Given the description of an element on the screen output the (x, y) to click on. 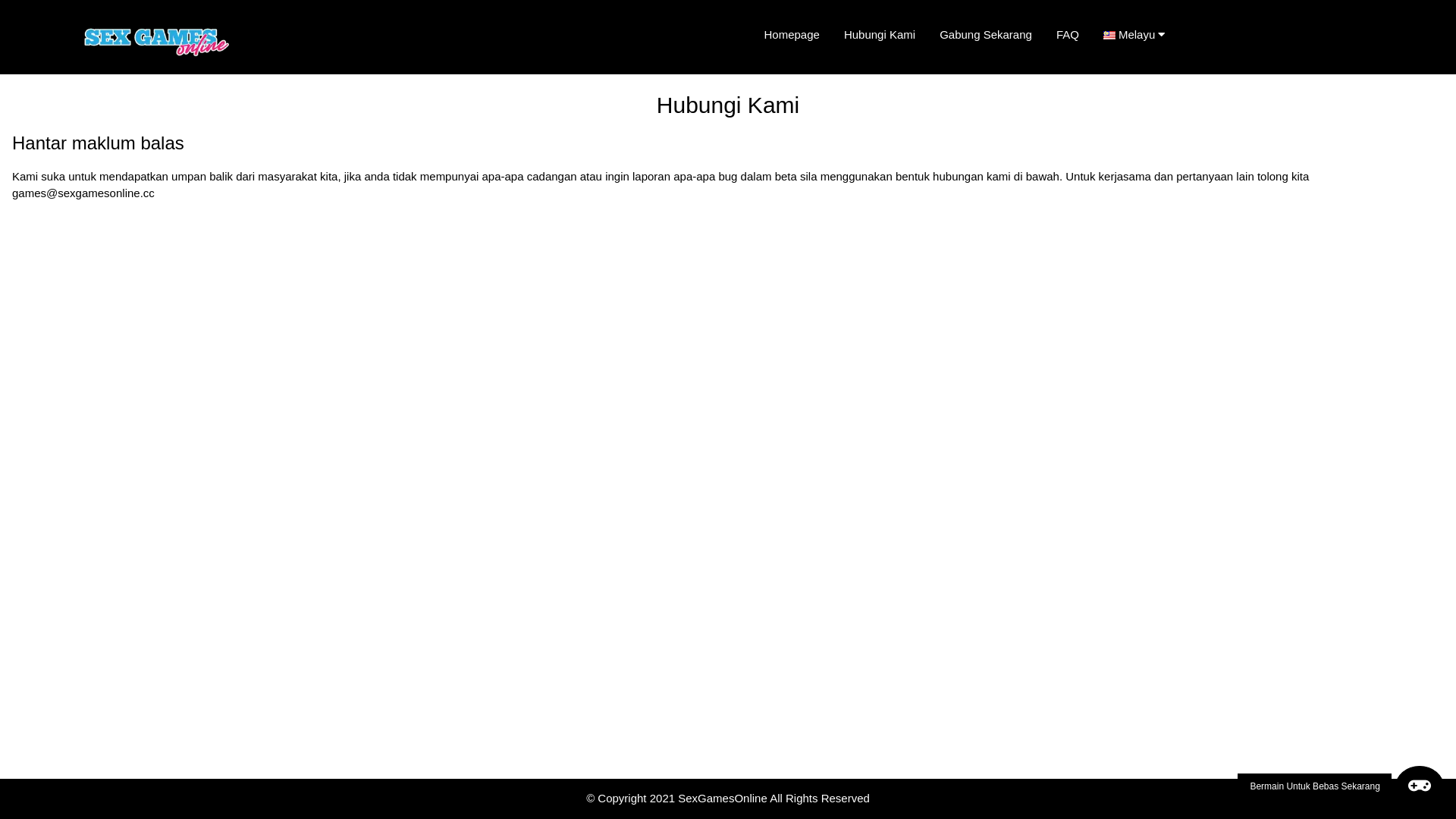
Gabung Sekarang Element type: text (985, 35)
Homepage Element type: text (791, 35)
FAQ Element type: text (1067, 35)
Melayu Element type: text (1140, 35)
Bermain Untuk Bebas Sekarang Element type: text (1340, 785)
Hubungi Kami Element type: text (879, 35)
